Given the description of an element on the screen output the (x, y) to click on. 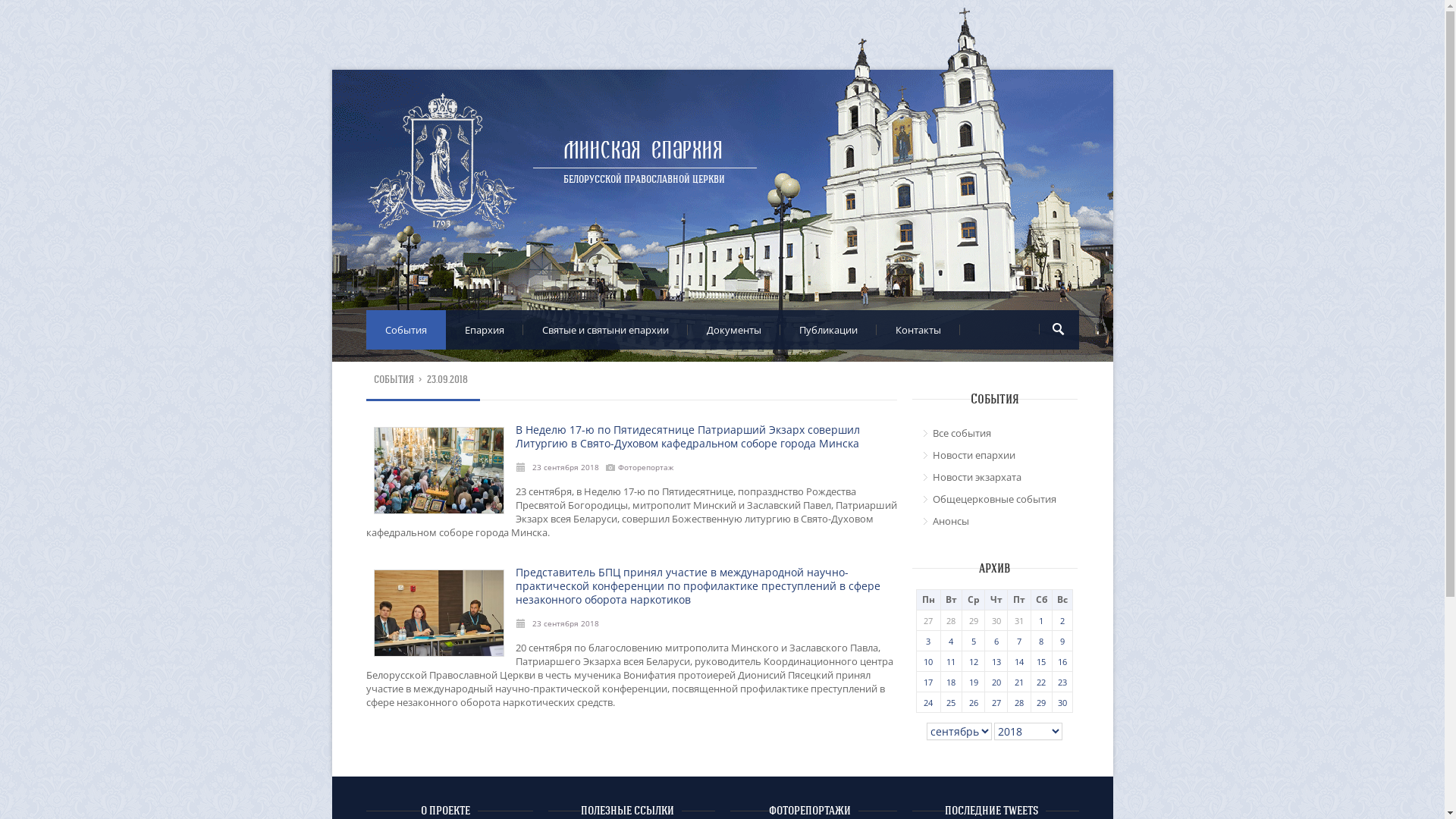
25 Element type: text (950, 701)
8 Element type: text (1040, 640)
4 Element type: text (950, 640)
1 Element type: text (1040, 619)
11 Element type: text (950, 660)
17 Element type: text (927, 681)
29 Element type: text (1040, 701)
28 Element type: text (1018, 701)
26 Element type: text (973, 701)
23.09.2018 Element type: text (447, 379)
27 Element type: text (996, 701)
15 Element type: text (1040, 660)
5 Element type: text (973, 640)
12 Element type: text (973, 660)
24 Element type: text (927, 701)
9 Element type: text (1062, 640)
3 Element type: text (927, 640)
21 Element type: text (1018, 681)
10 Element type: text (927, 660)
16 Element type: text (1061, 660)
19 Element type: text (973, 681)
22 Element type: text (1040, 681)
20 Element type: text (996, 681)
7 Element type: text (1018, 640)
13 Element type: text (996, 660)
23 Element type: text (1061, 681)
6 Element type: text (996, 640)
18 Element type: text (950, 681)
2 Element type: text (1062, 619)
30 Element type: text (1061, 701)
14 Element type: text (1018, 660)
